Given the description of an element on the screen output the (x, y) to click on. 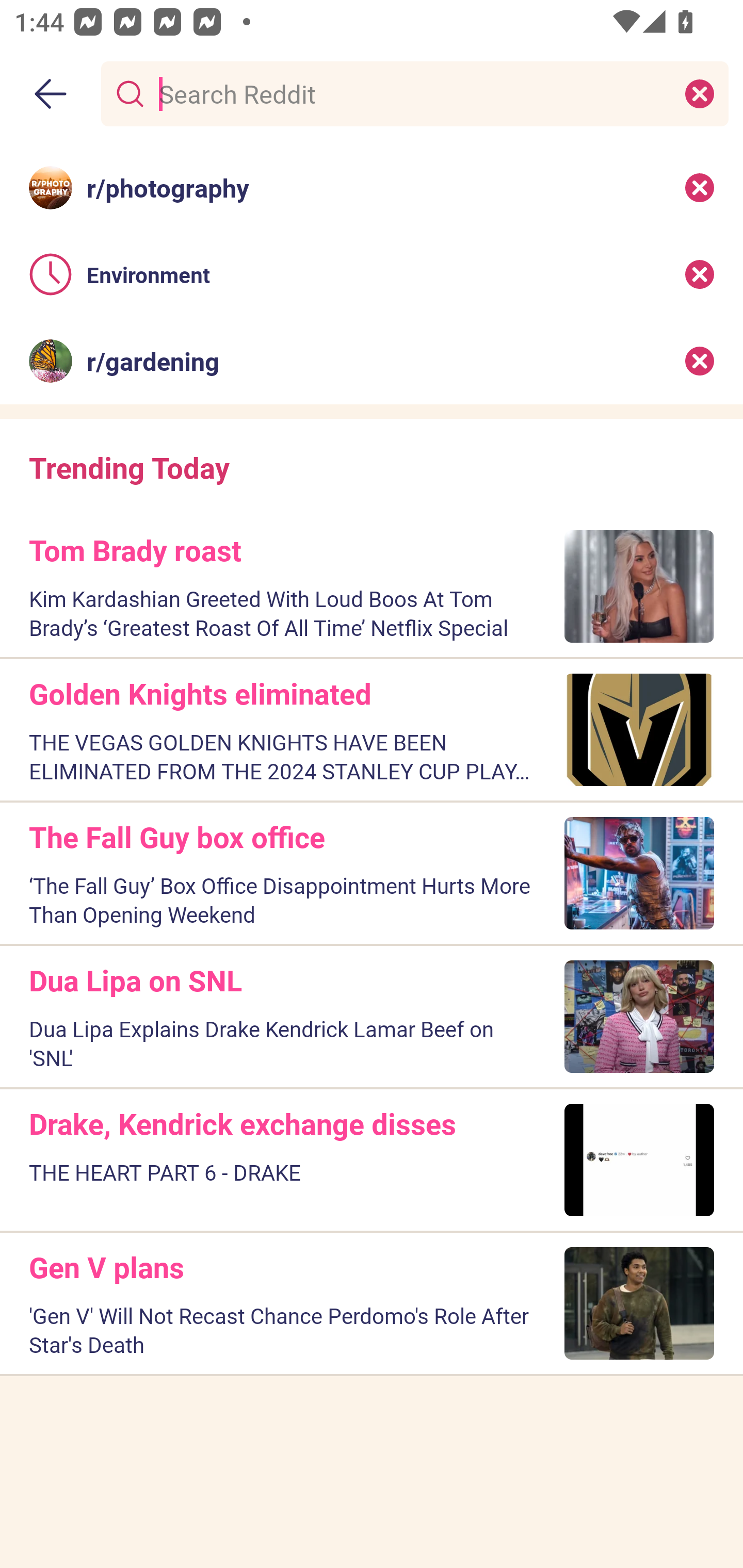
Back (50, 93)
Search Reddit (410, 93)
Clear search (699, 93)
r/photography Recent search: r/photography Remove (371, 187)
Remove (699, 187)
Environment Recent search: Environment Remove (371, 274)
Remove (699, 274)
r/gardening Recent search: r/gardening Remove (371, 361)
Remove (699, 361)
